Given the description of an element on the screen output the (x, y) to click on. 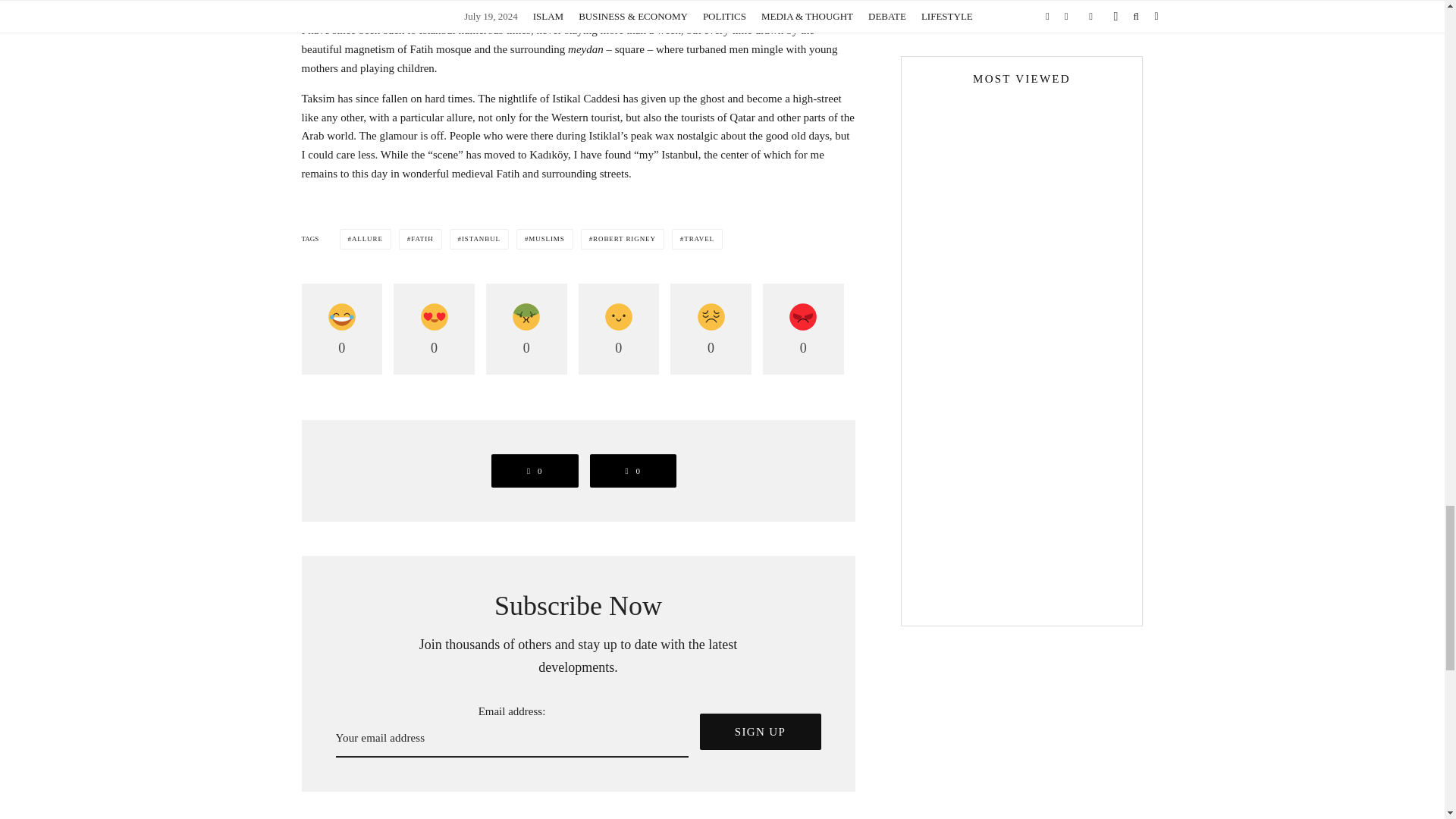
Sign up (759, 731)
